Given the description of an element on the screen output the (x, y) to click on. 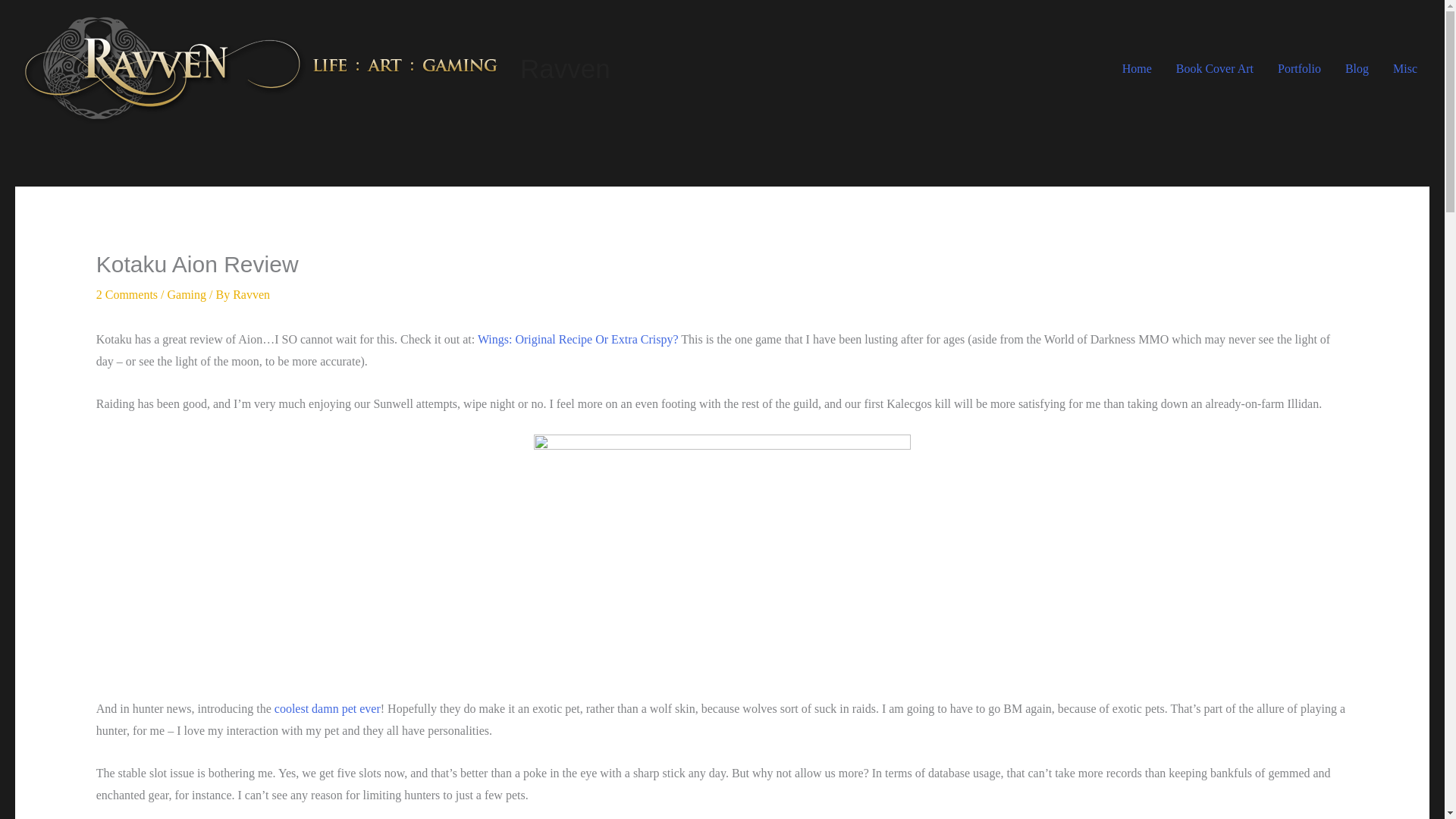
Portfolio (1299, 68)
Ravven (564, 68)
Misc (1404, 68)
Book Cover Art (1214, 68)
View all posts by Ravven (250, 294)
Home (1136, 68)
Blog (1356, 68)
